Given the description of an element on the screen output the (x, y) to click on. 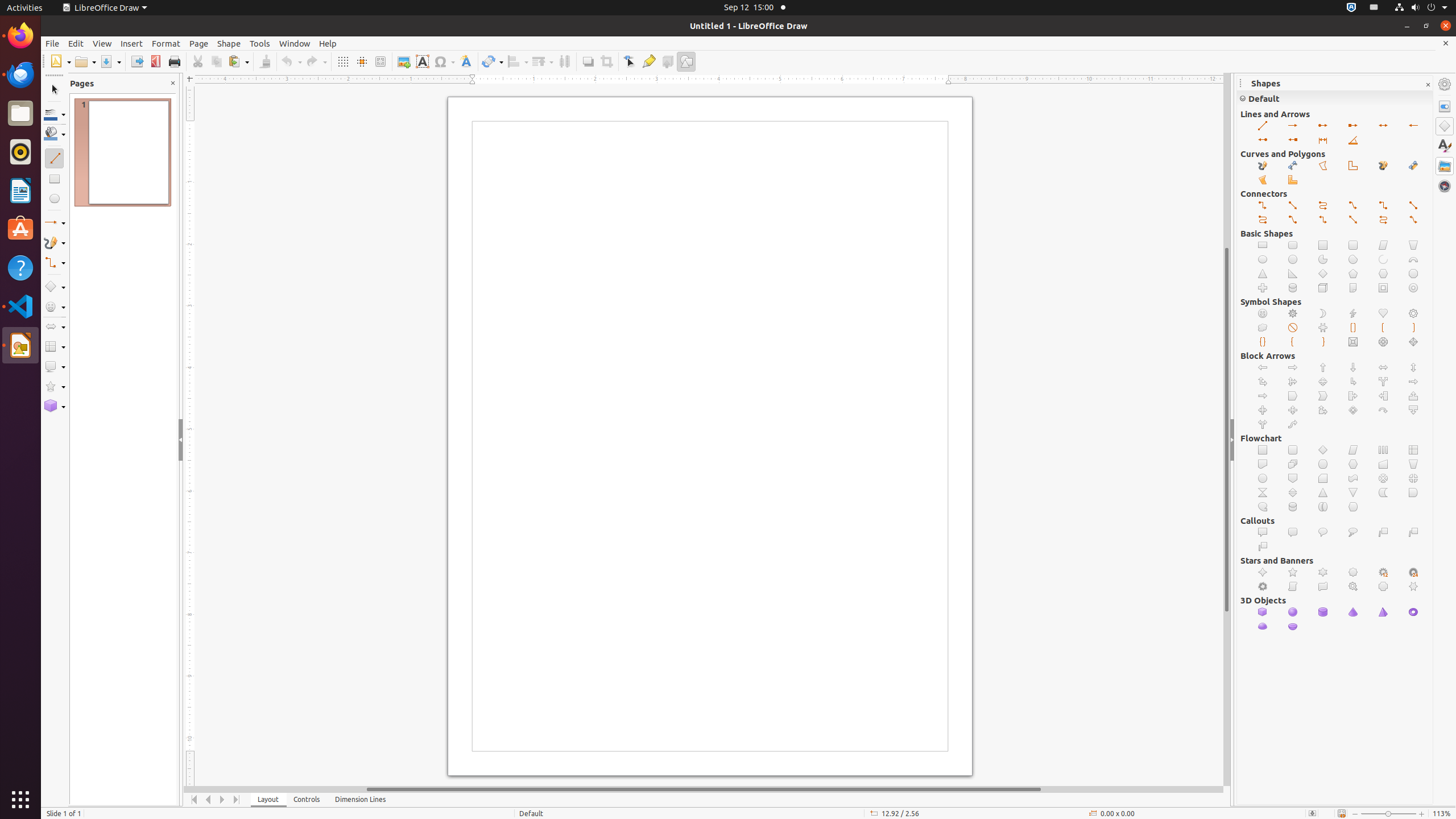
Straight Connector ends with Arrow Element type: list-item (1292, 205)
Curved Connector with Arrows Element type: list-item (1383, 219)
Flowchart: Alternate Process Element type: list-item (1292, 450)
24-Point Star Element type: list-item (1413, 572)
Flowchart: Decision Element type: list-item (1323, 450)
